Given the description of an element on the screen output the (x, y) to click on. 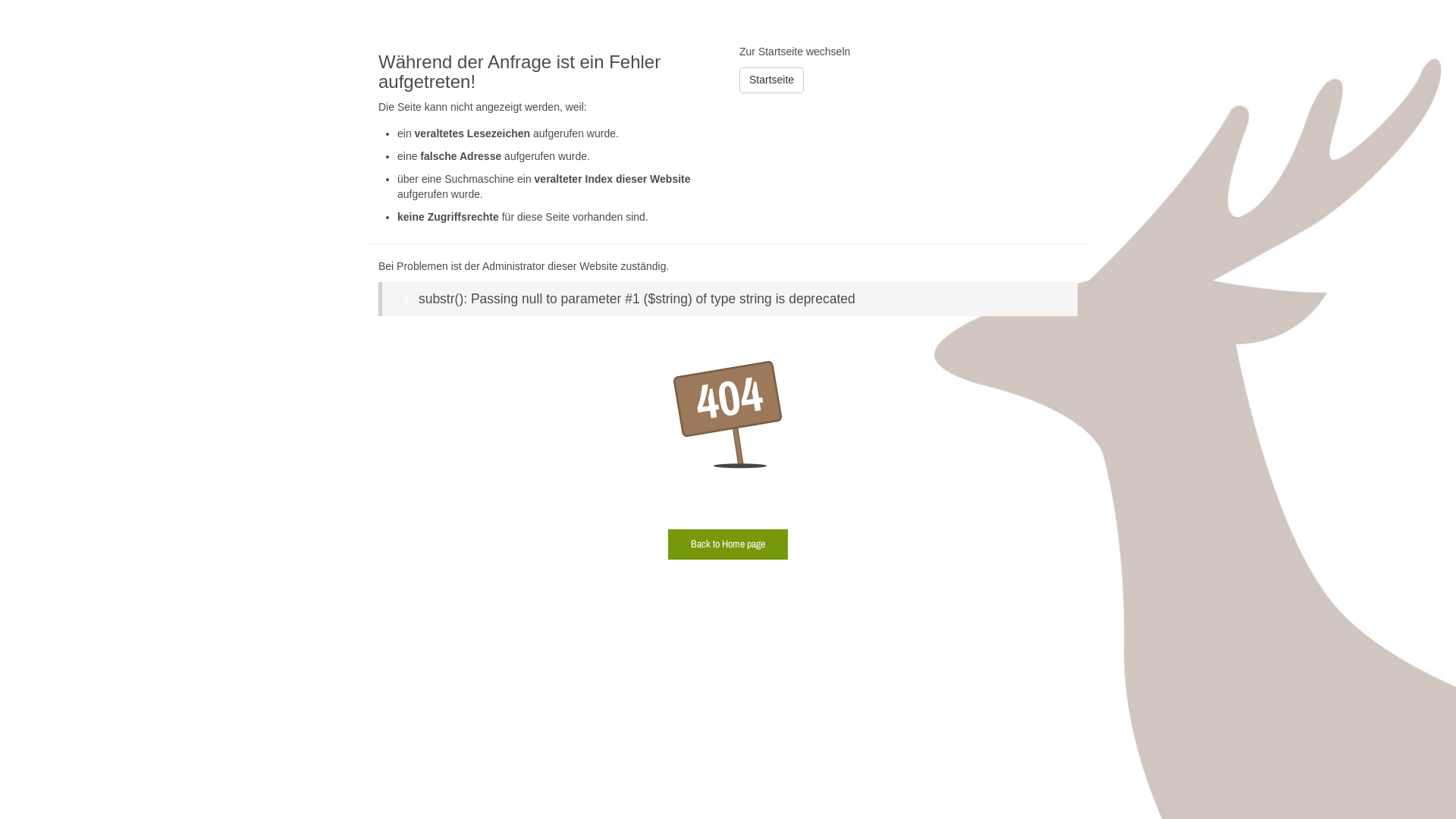
Back to Home page Element type: text (727, 544)
Startseite Element type: text (771, 80)
